Given the description of an element on the screen output the (x, y) to click on. 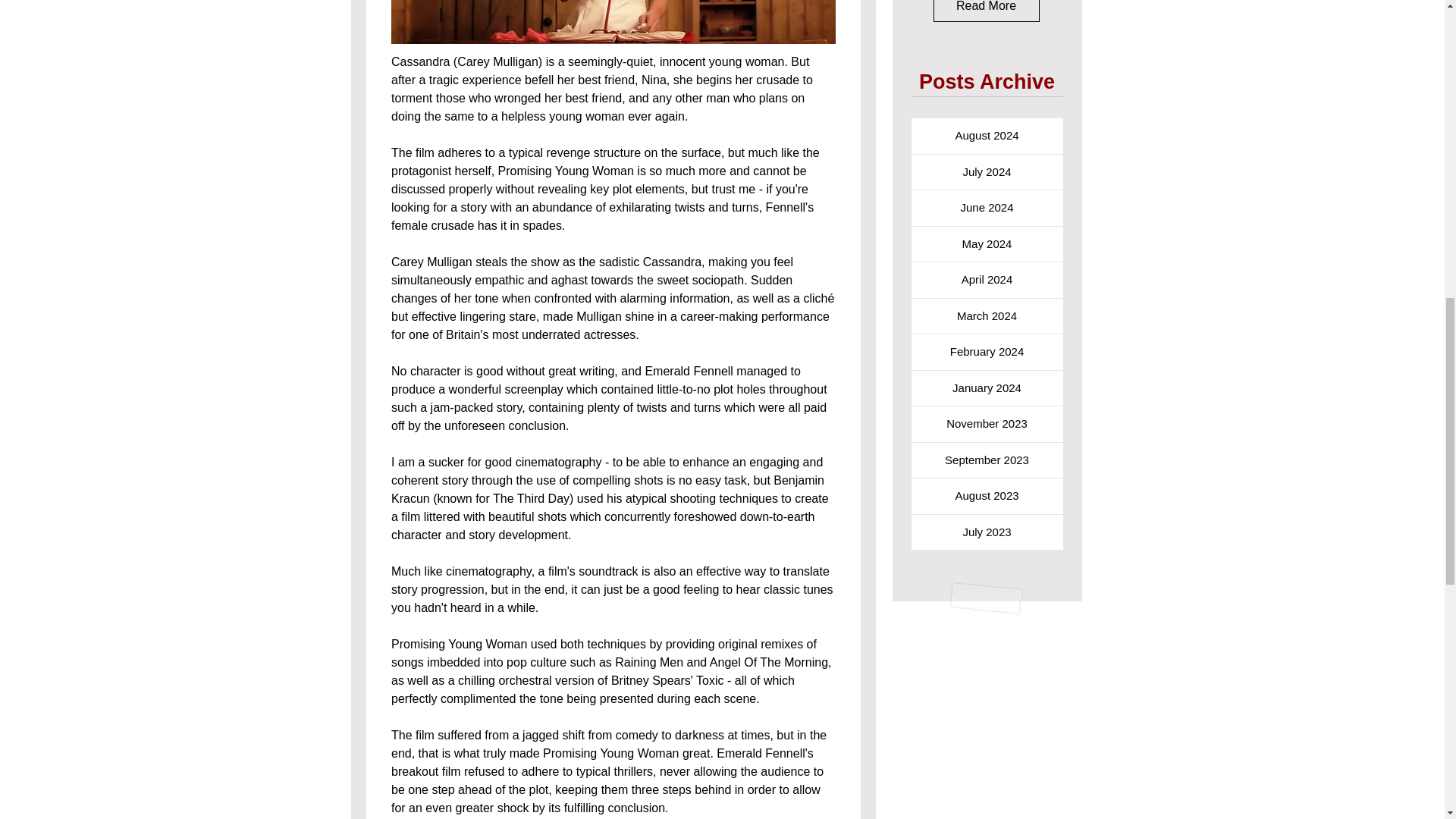
April 2024 (986, 280)
August 2024 (986, 135)
Read More (986, 11)
January 2024 (986, 388)
May 2024 (986, 244)
March 2024 (986, 316)
August 2023 (986, 496)
June 2024 (986, 208)
September 2023 (986, 460)
July 2024 (986, 172)
February 2024 (986, 352)
July 2023 (986, 532)
November 2023 (986, 424)
